Given the description of an element on the screen output the (x, y) to click on. 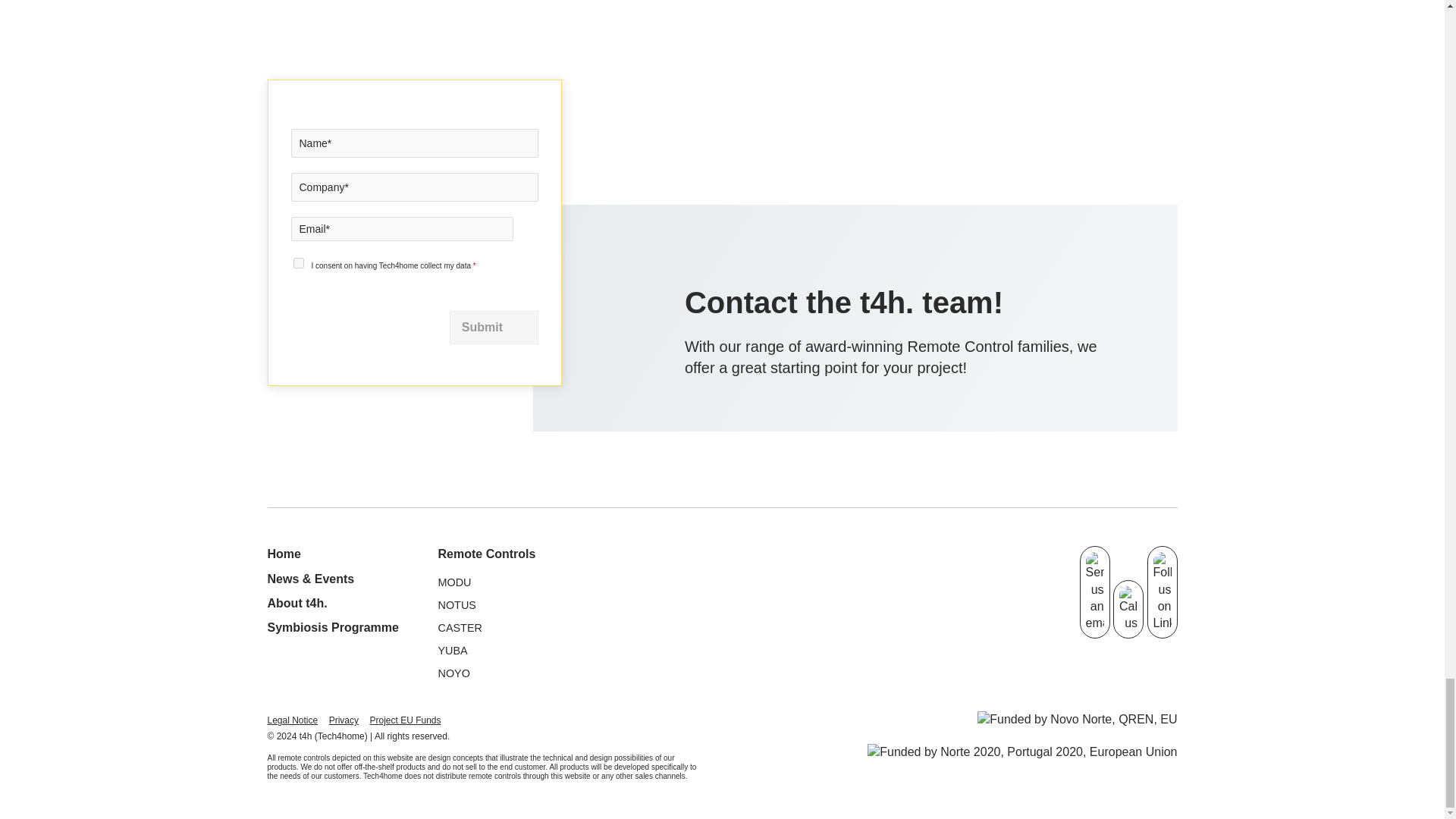
Home (282, 553)
MODU (454, 582)
Remote Controls (486, 553)
YUBA (452, 650)
Remote Controls (486, 553)
NOTUS (457, 604)
Home (282, 553)
NOYO (454, 673)
YUBA (452, 650)
About t4h. (296, 603)
